Given the description of an element on the screen output the (x, y) to click on. 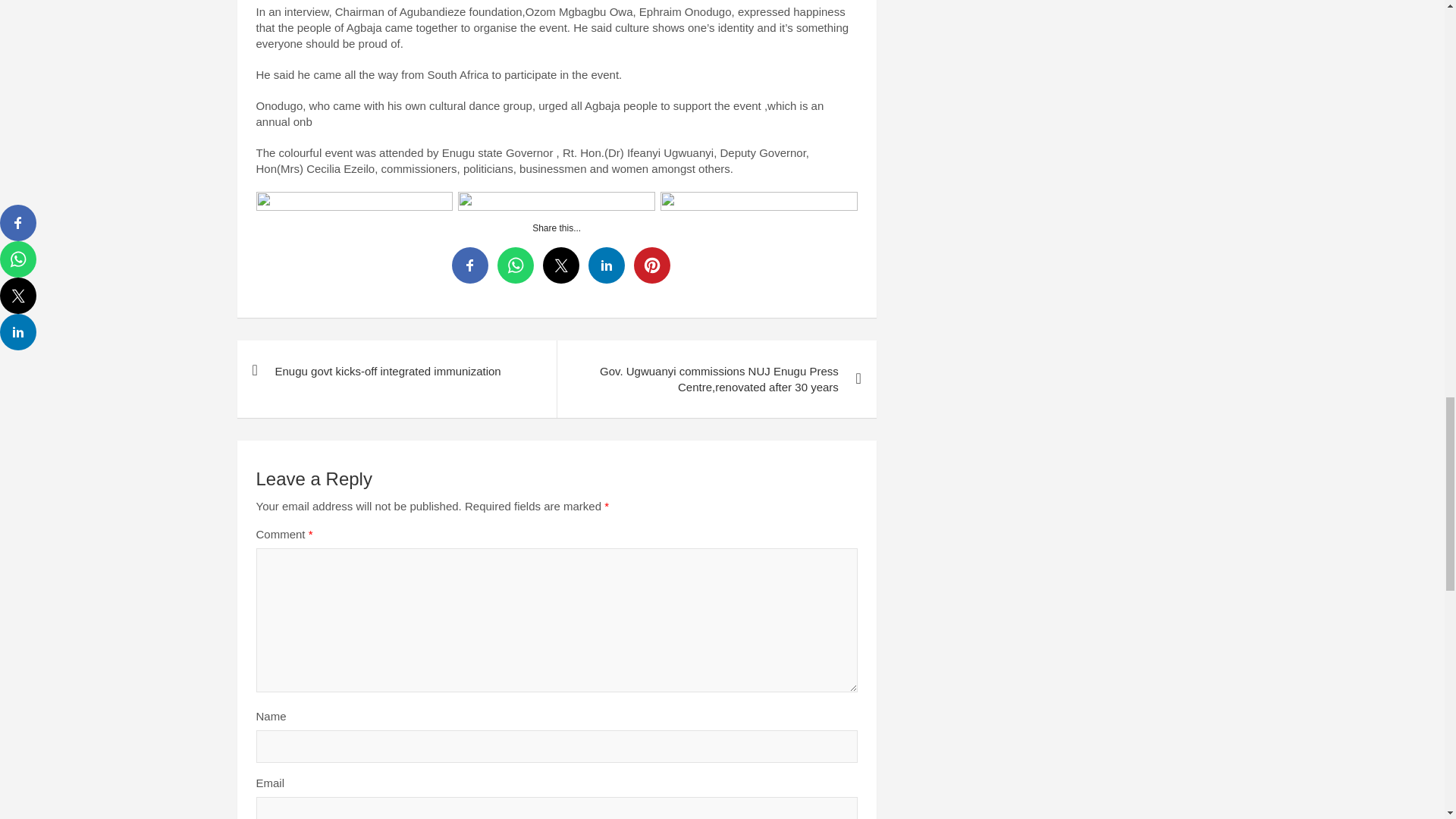
Enugu govt kicks-off integrated immunization (395, 371)
